Given the description of an element on the screen output the (x, y) to click on. 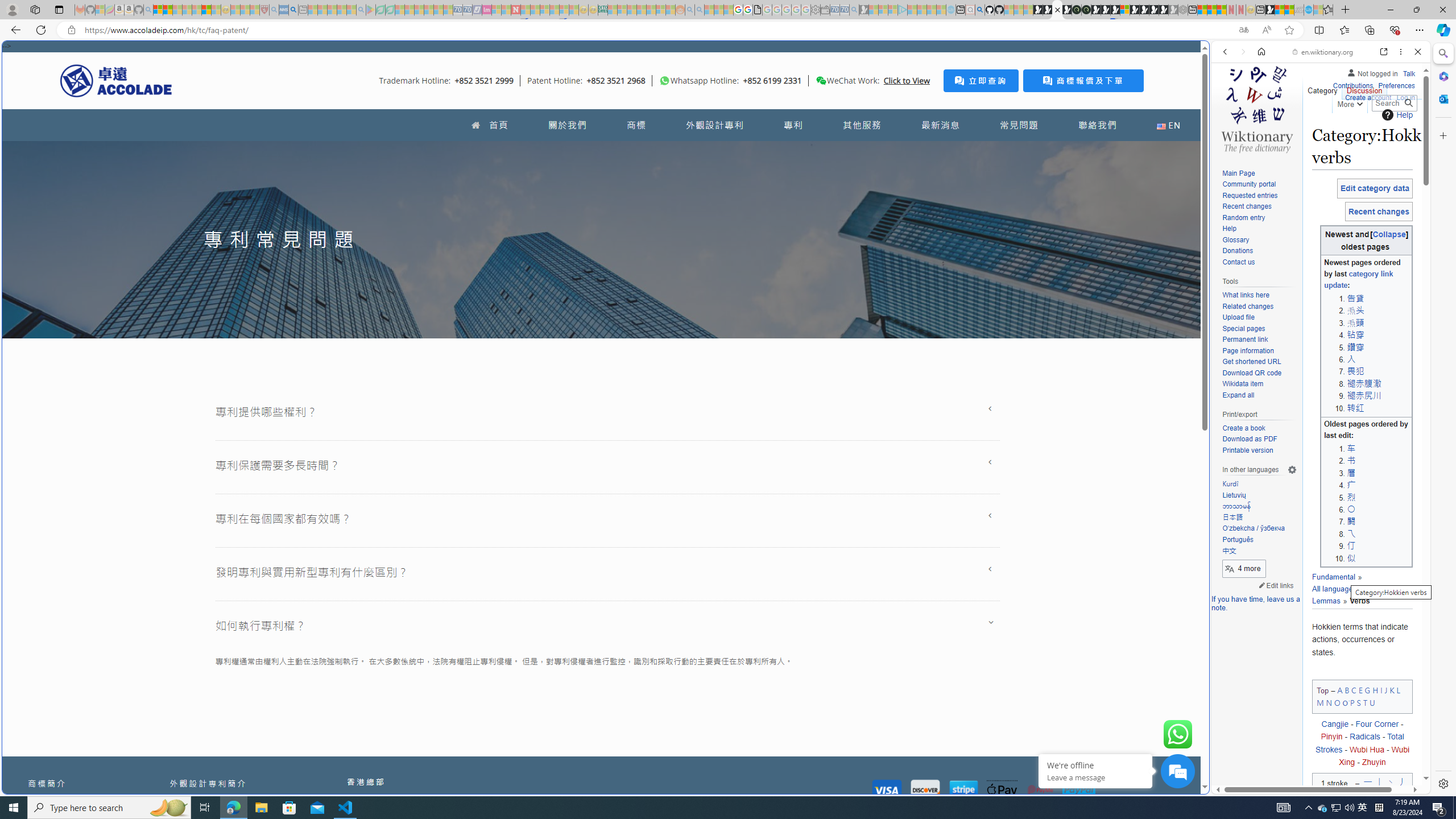
T (1364, 701)
Related changes (1247, 306)
H (1375, 689)
